Given the description of an element on the screen output the (x, y) to click on. 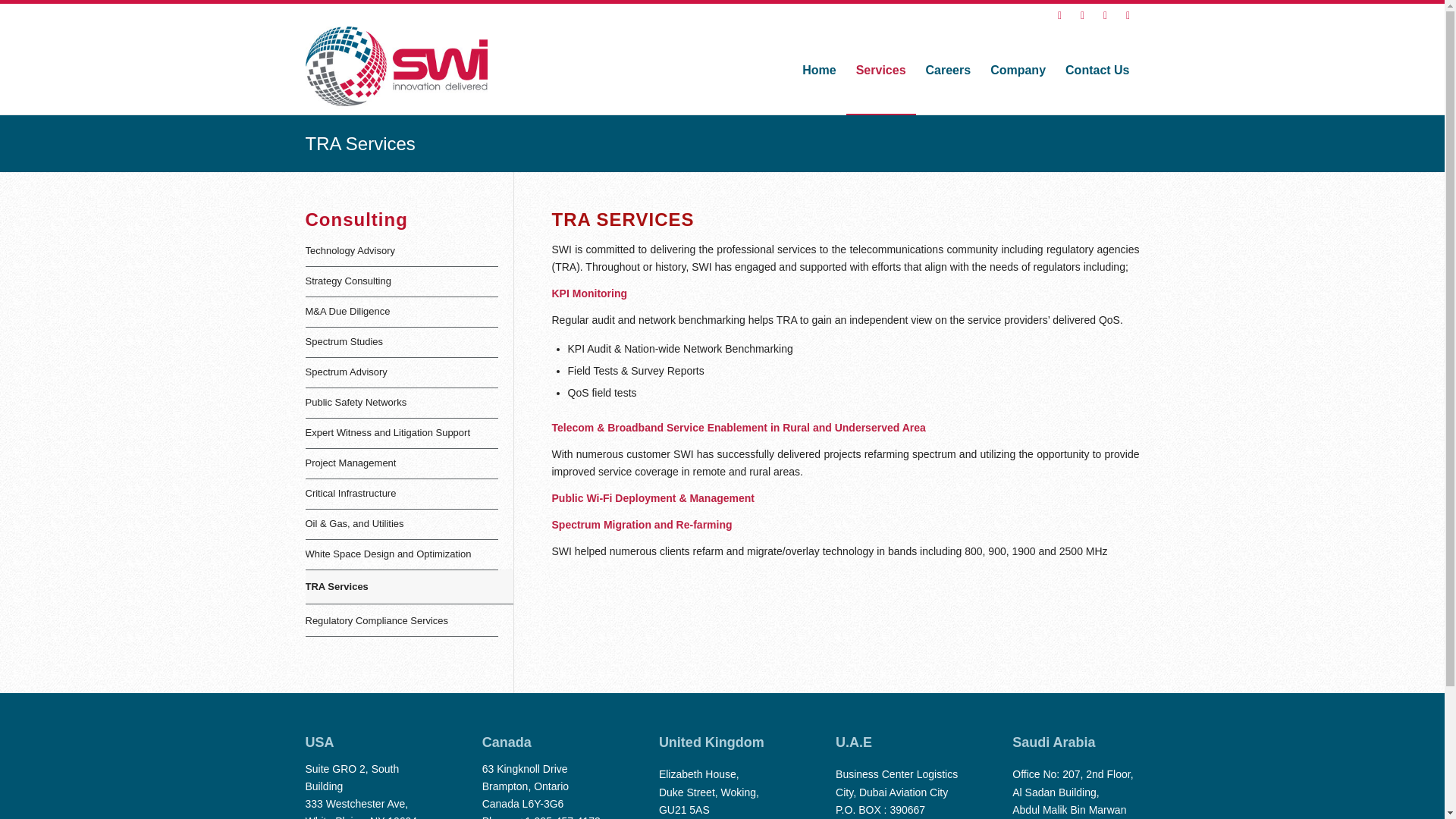
Twitter (1081, 15)
LinkedIn (1104, 15)
Permanent Link: TRA Services (359, 143)
Facebook (1059, 15)
Skype (1127, 15)
